Given the description of an element on the screen output the (x, y) to click on. 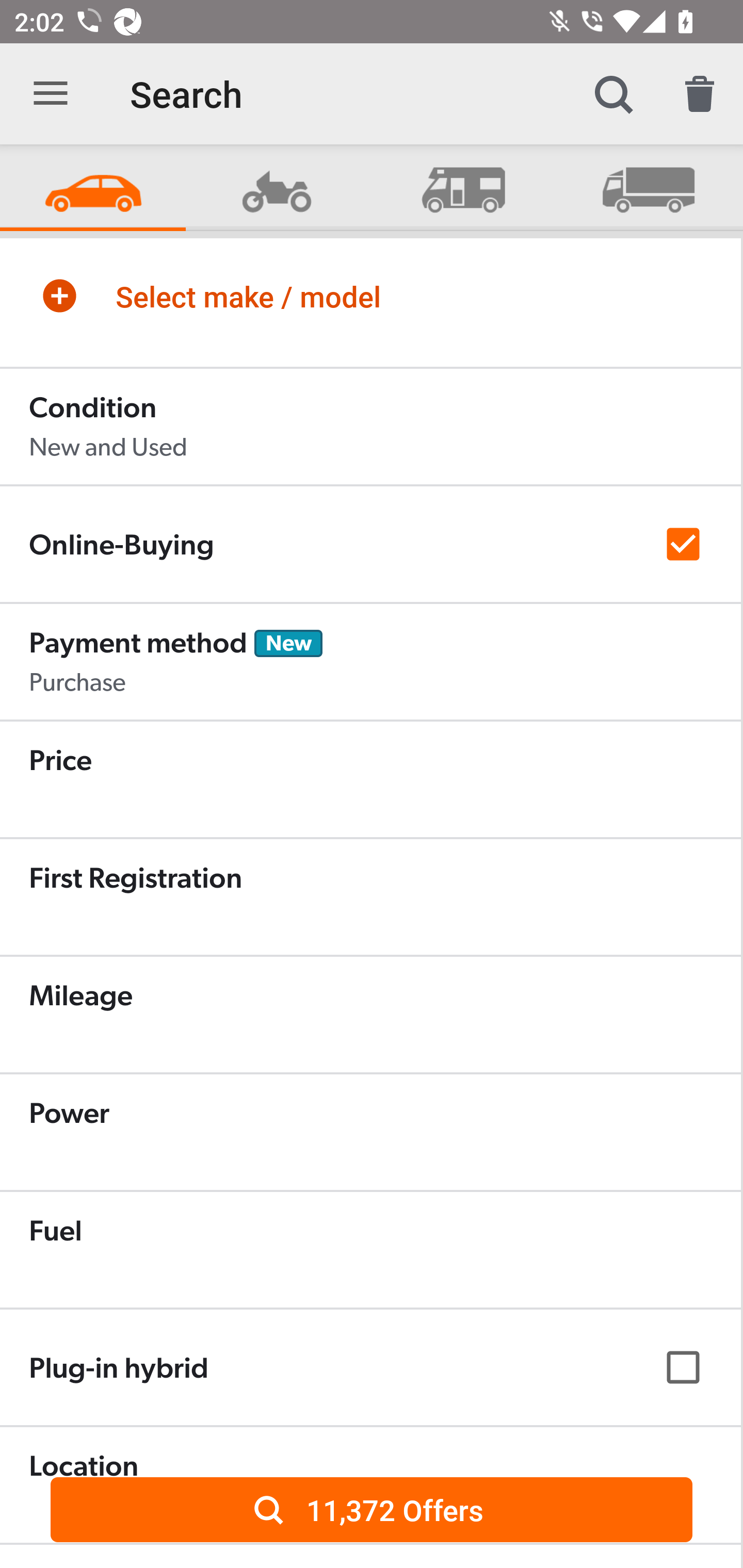
Open navigation bar (50, 93)
Search (612, 93)
Reset search (699, 93)
Select make / model (370, 296)
Condition New and Used (370, 426)
Online-Buying (370, 544)
Online-Buying (369, 543)
Payment method New Purchase (370, 661)
Price (370, 779)
First Registration (370, 896)
Mileage (370, 1014)
Power (370, 1132)
Fuel (370, 1249)
Plug-in hybrid (370, 1367)
Plug-in hybrid (369, 1367)
11,372 Offers (371, 1509)
